Given the description of an element on the screen output the (x, y) to click on. 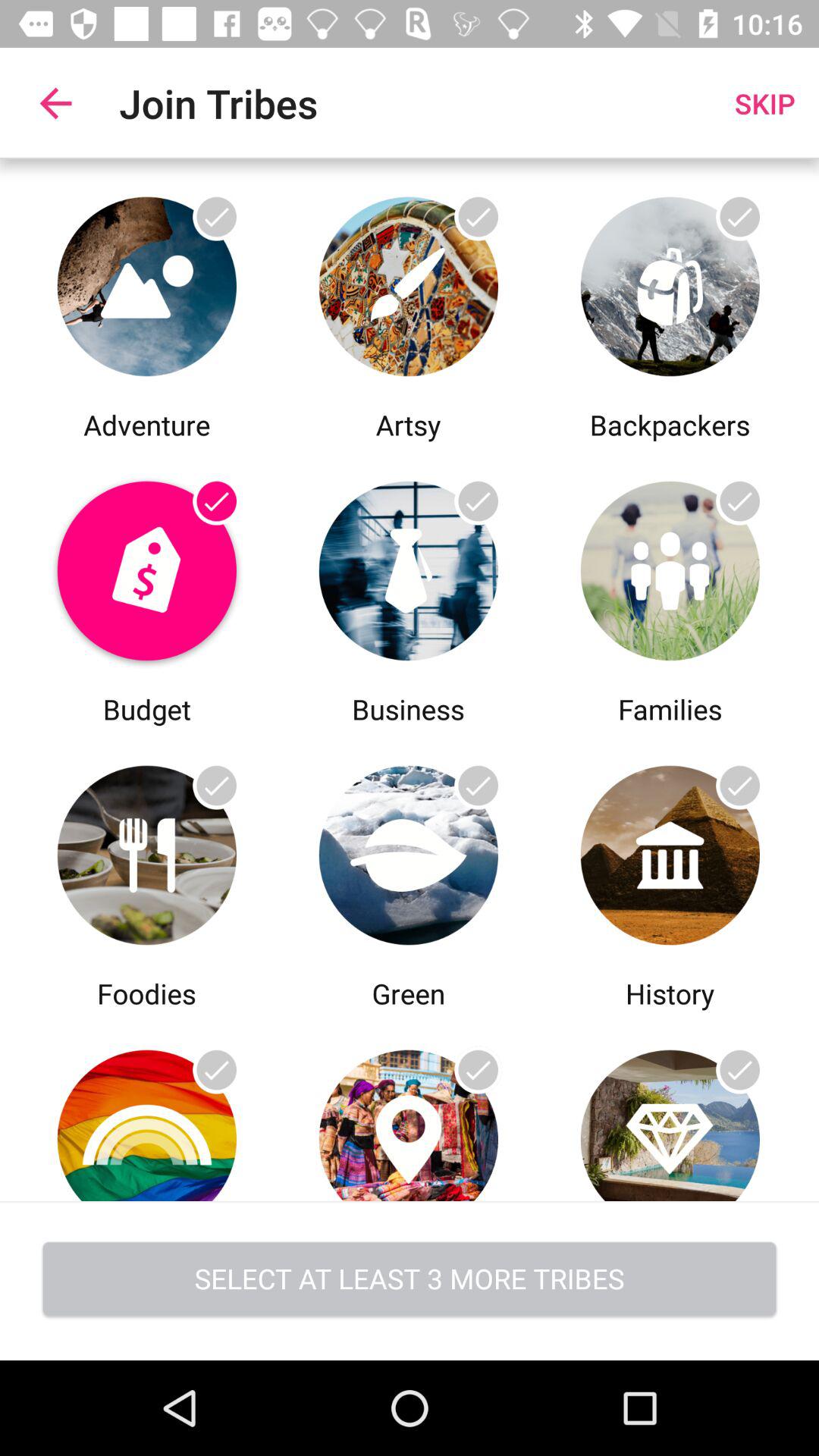
select this tribe (408, 1106)
